Given the description of an element on the screen output the (x, y) to click on. 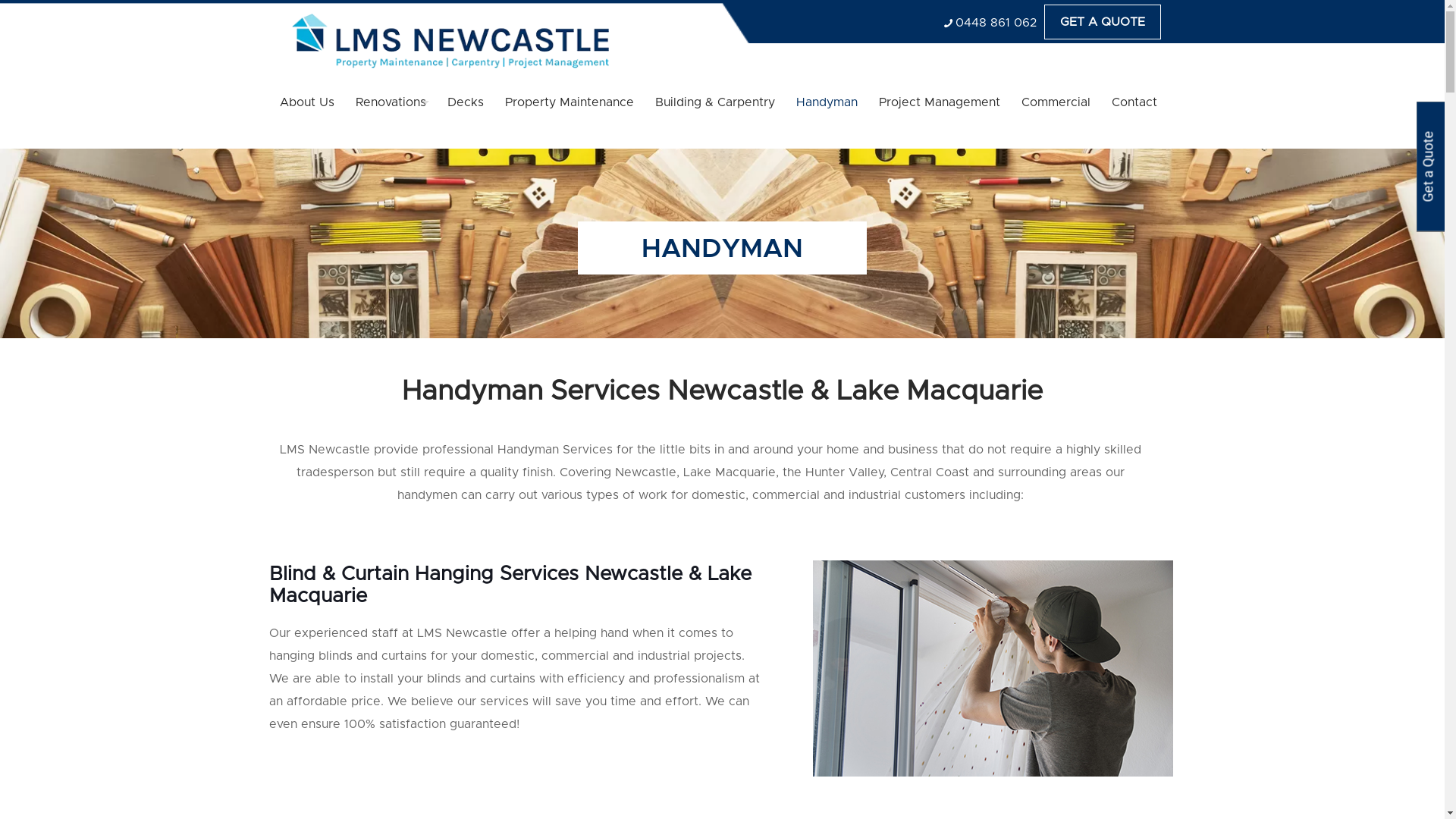
Handyman Element type: text (826, 102)
Renovations Element type: text (390, 102)
Contact Element type: text (1134, 102)
Project Management Element type: text (938, 102)
Decks Element type: text (465, 102)
Blind--Curtain-Hanging Element type: hover (992, 668)
Commercial Element type: text (1055, 102)
Property Maintenance Element type: text (569, 102)
0448 861 062 Element type: text (995, 22)
GET A QUOTE Element type: text (1101, 21)
LMS Newcastle Element type: hover (449, 40)
Building & Carpentry Element type: text (714, 102)
About Us Element type: text (306, 102)
